Given the description of an element on the screen output the (x, y) to click on. 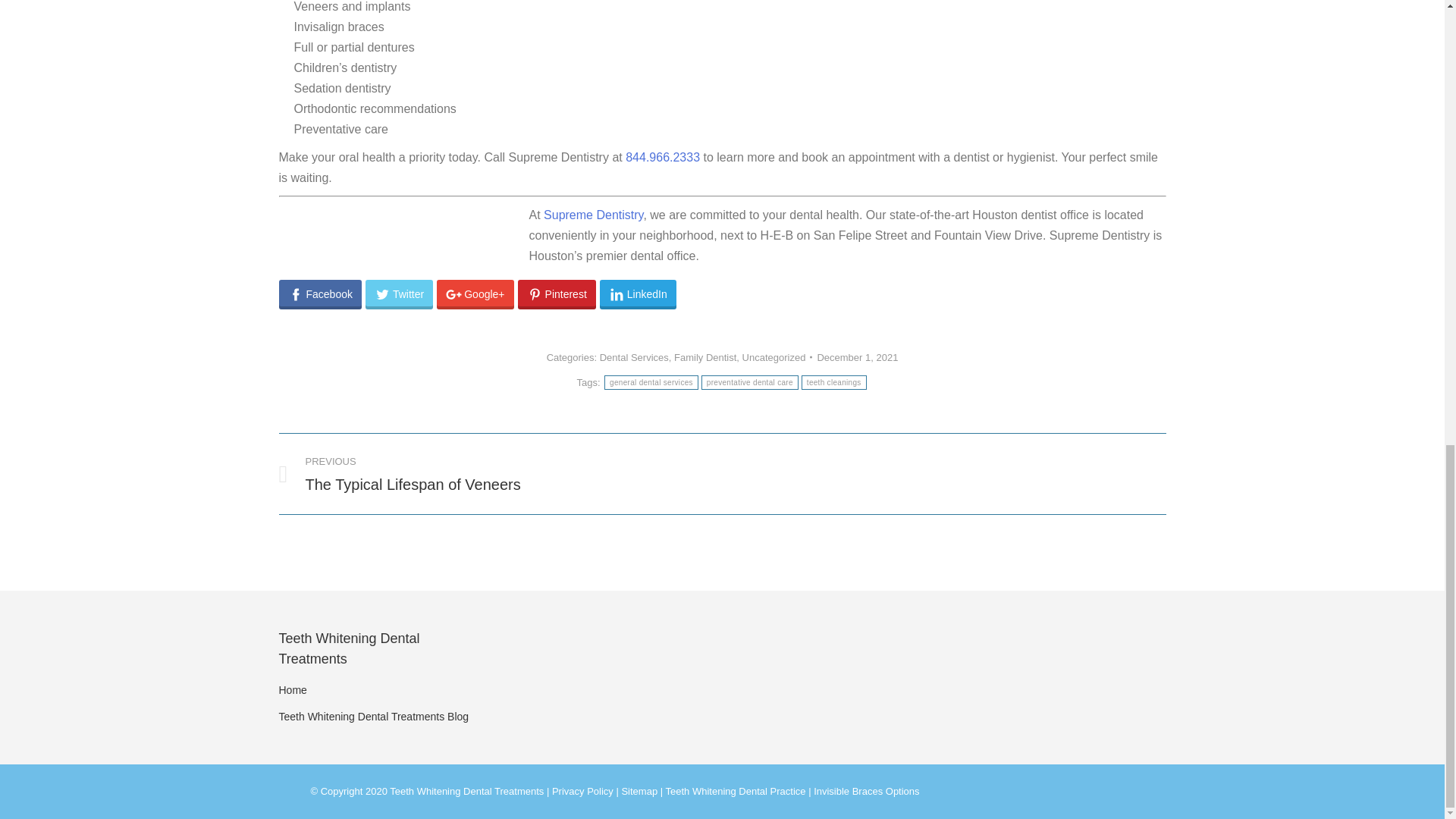
Facebook (489, 473)
preventative dental care (320, 294)
teeth cleanings (749, 382)
general dental services (834, 382)
Uncategorized (651, 382)
December 1, 2021 (774, 357)
Dental Services (857, 357)
9:00 am (633, 357)
Family Dentist (857, 357)
